Given the description of an element on the screen output the (x, y) to click on. 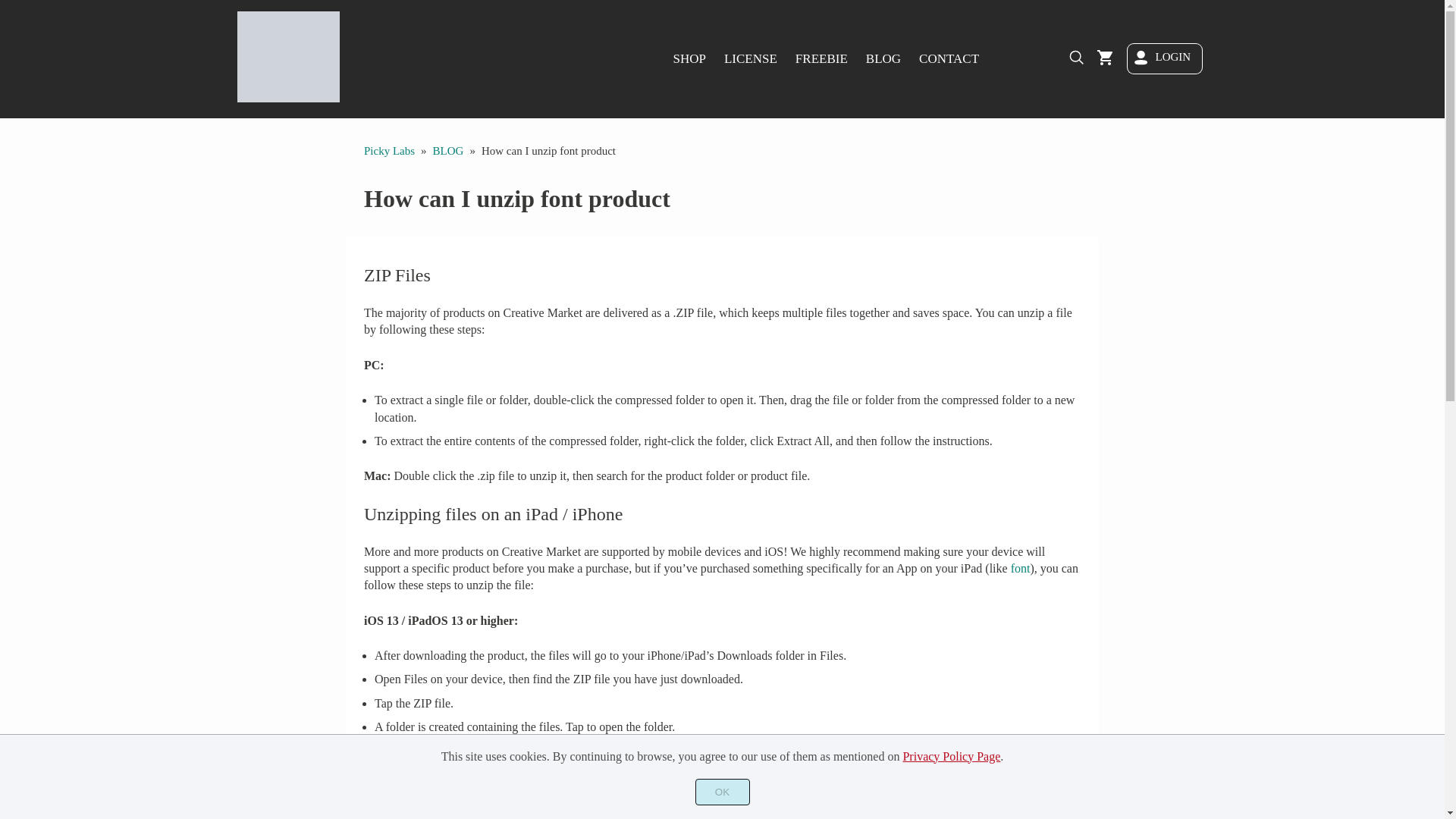
BLOG (448, 150)
LOGIN (1163, 58)
Homepage (389, 150)
CONTACT (949, 58)
Go to Homepage (287, 97)
SHOP (688, 58)
Open Shopping Cart (1104, 57)
ZipApp Free (459, 797)
font (1020, 567)
iZip (534, 813)
